Given the description of an element on the screen output the (x, y) to click on. 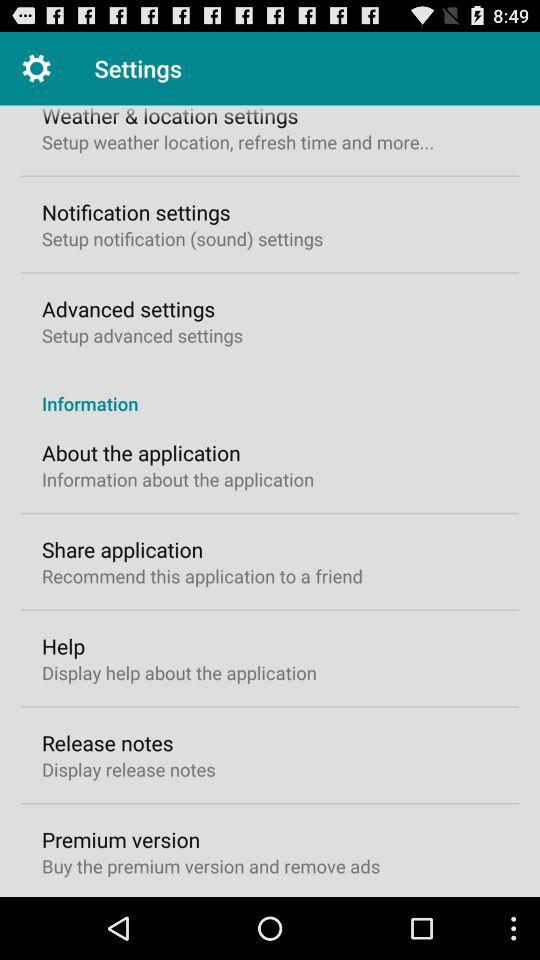
open the icon below the notification settings (182, 238)
